Given the description of an element on the screen output the (x, y) to click on. 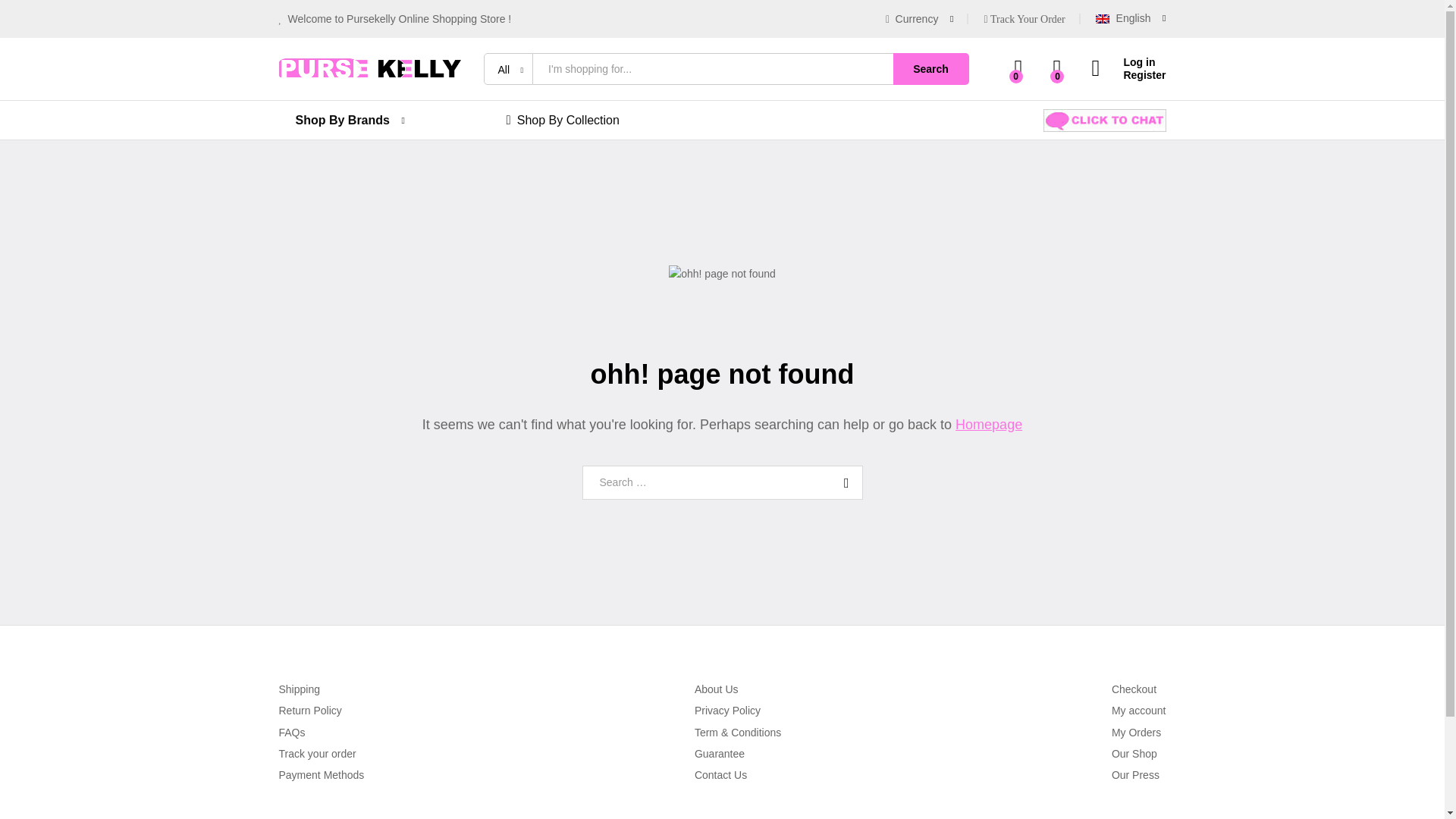
  European Euro (1006, 84)
Track your order (317, 753)
German (1162, 85)
Register (1128, 74)
Payment Methods (322, 775)
  Canadian dollar (1007, 105)
Log in (1128, 62)
  US Dollar (993, 62)
Shop By Collection (563, 119)
About Us (716, 689)
